Given the description of an element on the screen output the (x, y) to click on. 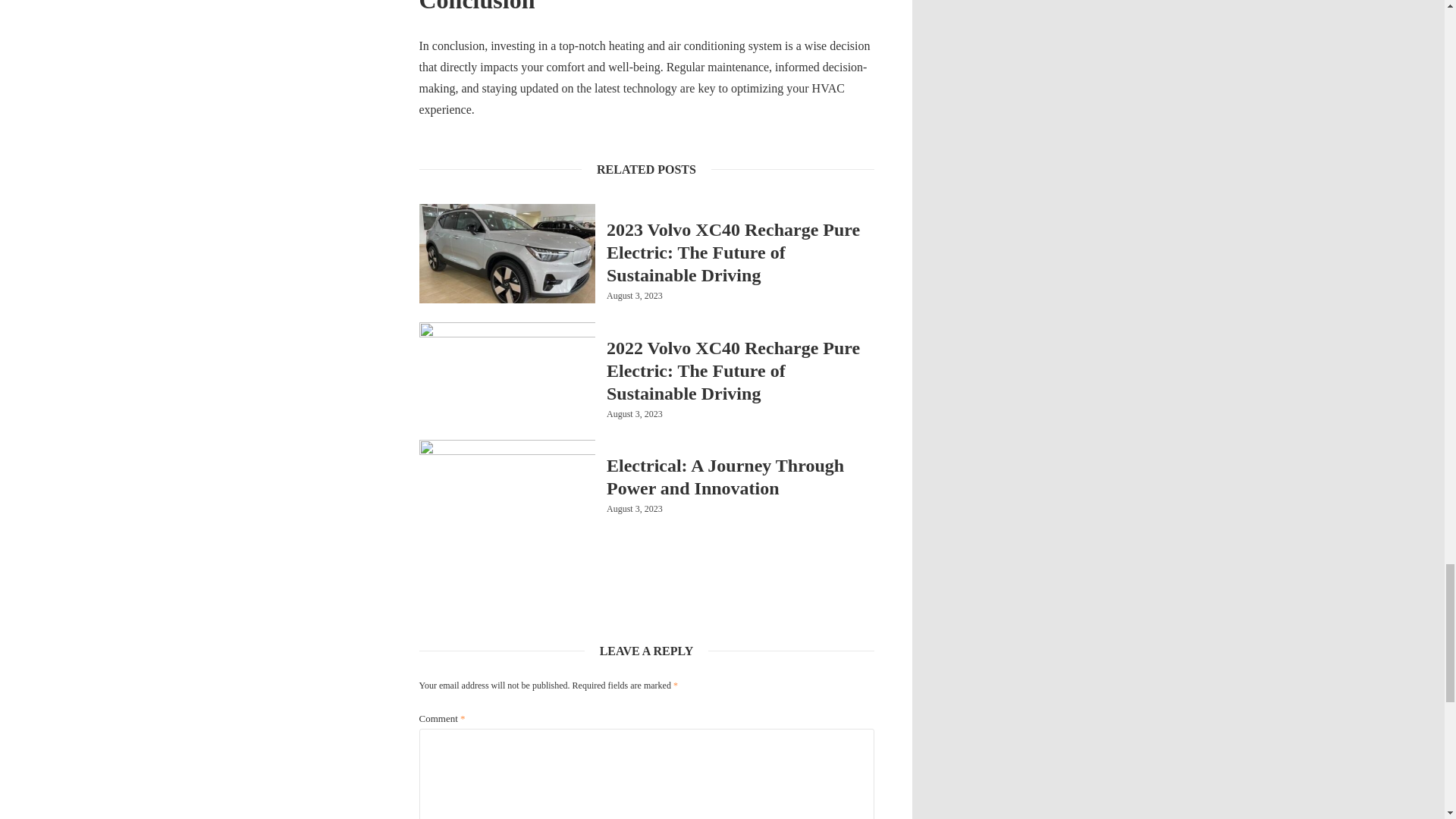
Electrical: A Journey Through Power and Innovation (740, 476)
UNCATEGORIZED (642, 443)
UNCATEGORIZED (642, 208)
UNCATEGORIZED (642, 326)
